Given the description of an element on the screen output the (x, y) to click on. 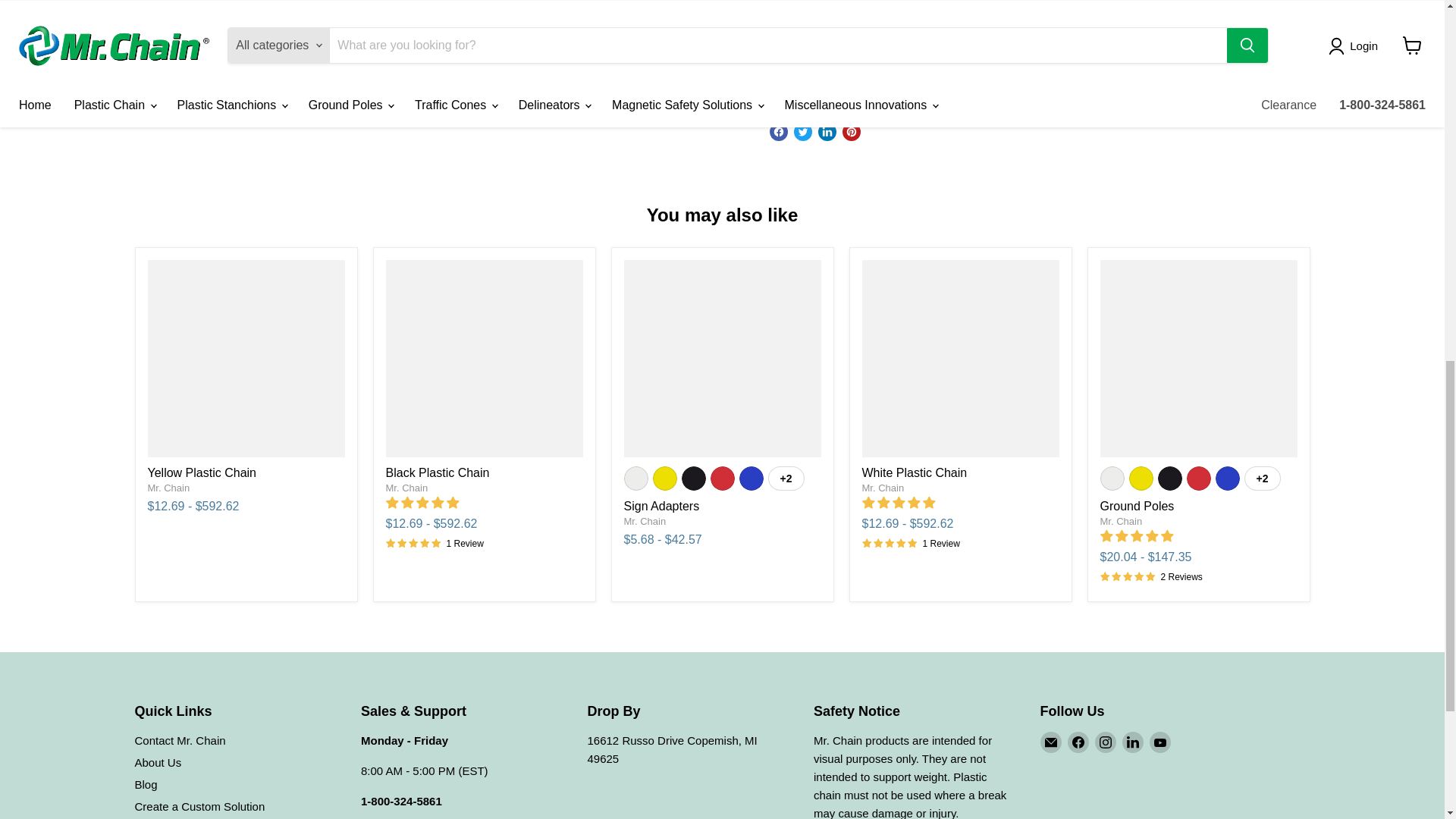
YouTube (1160, 742)
Instagram (1105, 742)
Mr. Chain (406, 487)
Mr. Chain (882, 487)
Facebook (1078, 742)
Mr. Chain (168, 487)
Mr. Chain (1120, 521)
Mr. Chain (644, 521)
Connect-ALL (1208, 77)
LinkedIn (1132, 742)
